Given the description of an element on the screen output the (x, y) to click on. 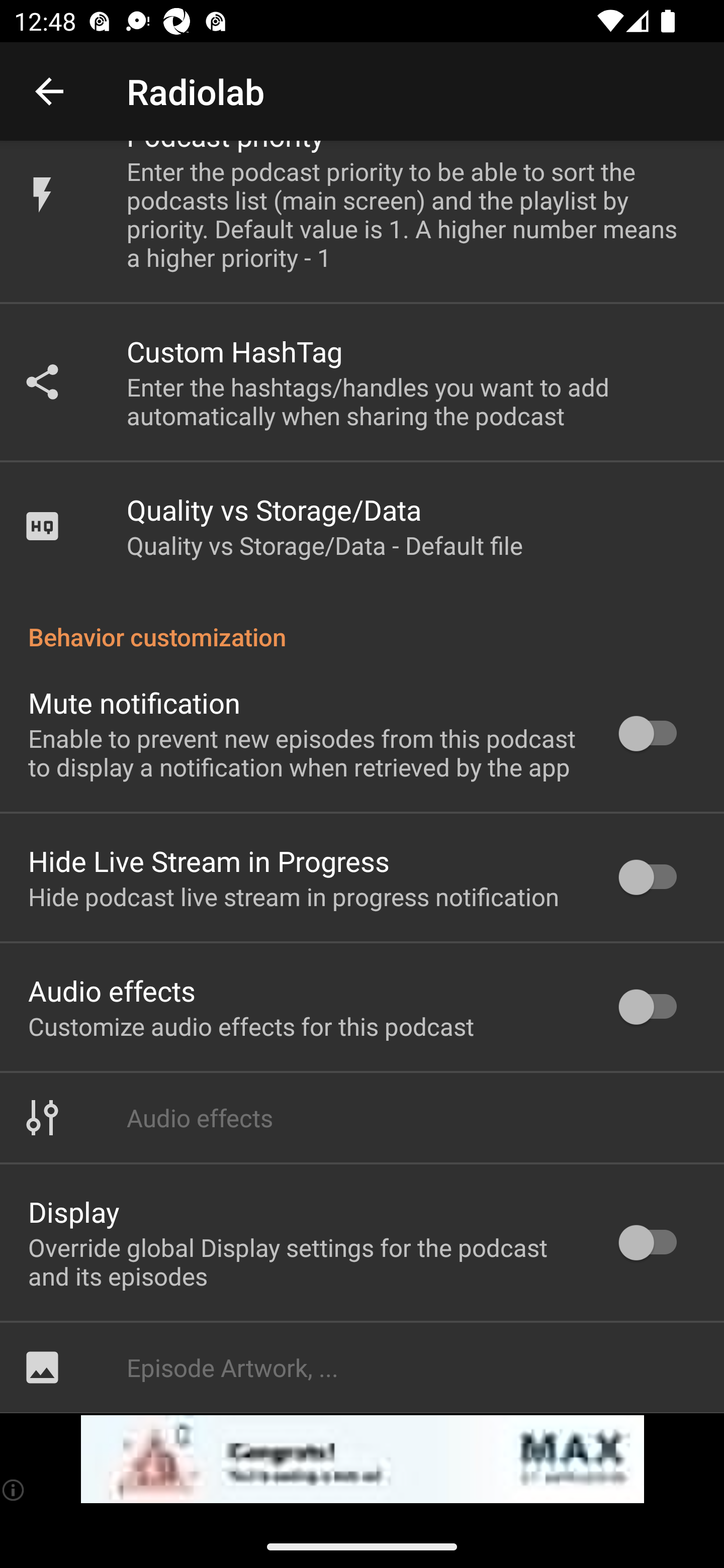
Navigate up (49, 91)
Audio effects (362, 1116)
Episode Artwork, ... (362, 1367)
app-monetization (362, 1459)
(i) (14, 1489)
